Given the description of an element on the screen output the (x, y) to click on. 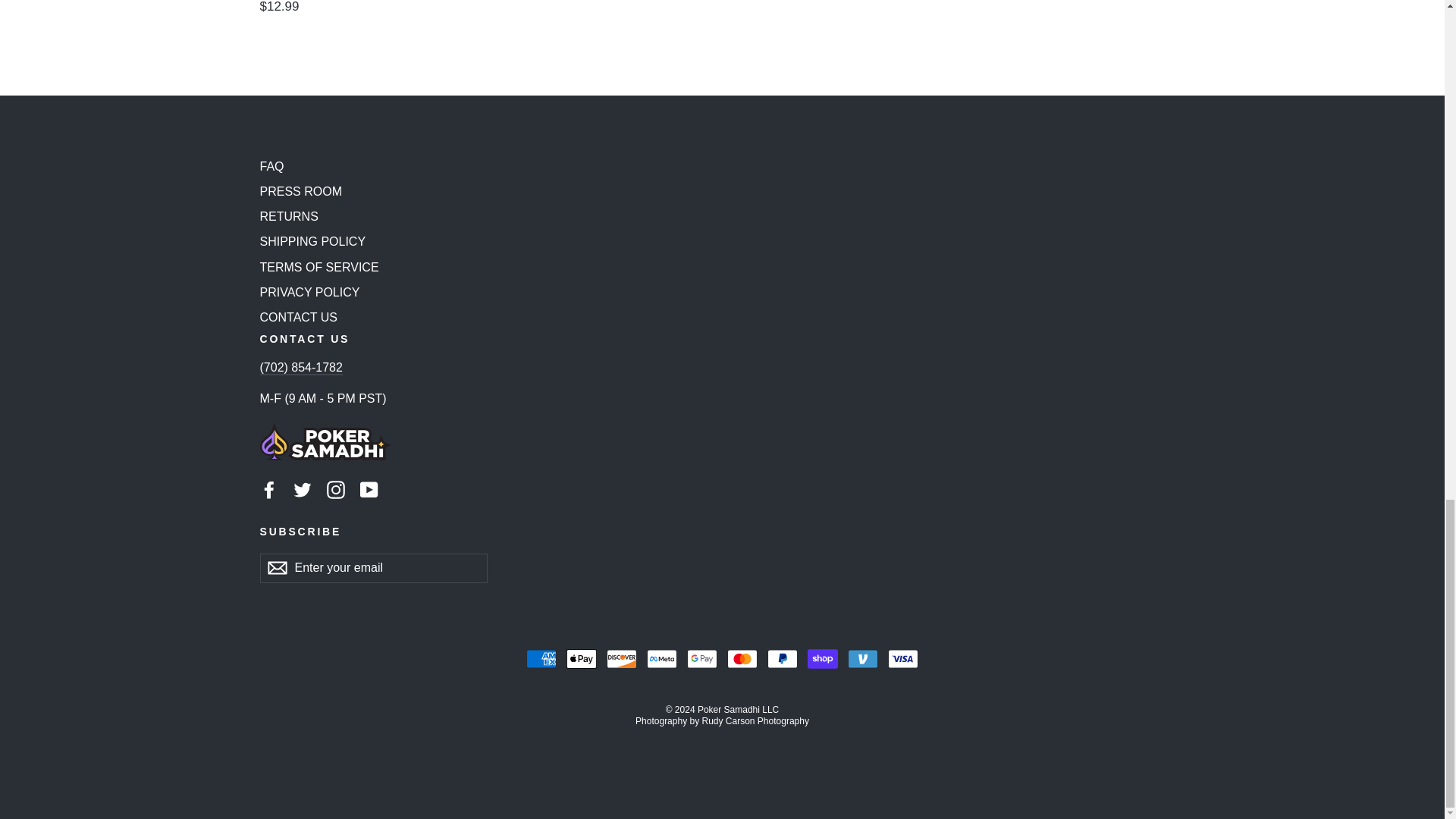
Poker Samadhi on Facebook (268, 489)
Meta Pay (661, 658)
Poker Samadhi on Twitter (302, 489)
Discover (622, 658)
Poker Samadhi on Instagram (335, 489)
Poker Samadhi on YouTube (368, 489)
American Express (540, 658)
Apple Pay (581, 658)
Google Pay (702, 658)
